Given the description of an element on the screen output the (x, y) to click on. 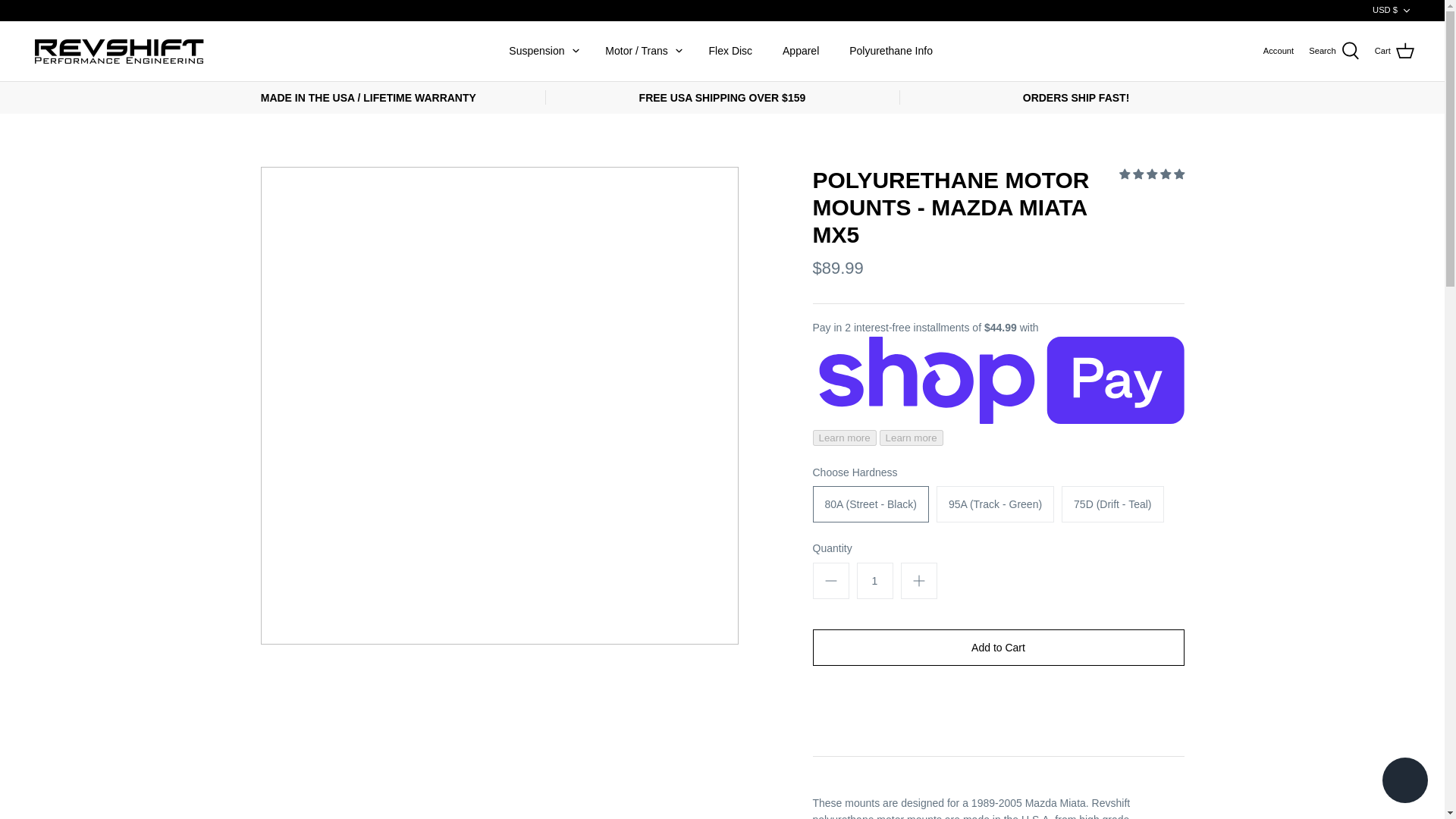
Apparel (800, 50)
Search (1333, 50)
Down (1406, 9)
Account (1278, 50)
1 (875, 580)
Minus (831, 580)
Flex Disc (731, 50)
Suspension (536, 50)
Plus (919, 580)
Add to Cart (998, 647)
